Given the description of an element on the screen output the (x, y) to click on. 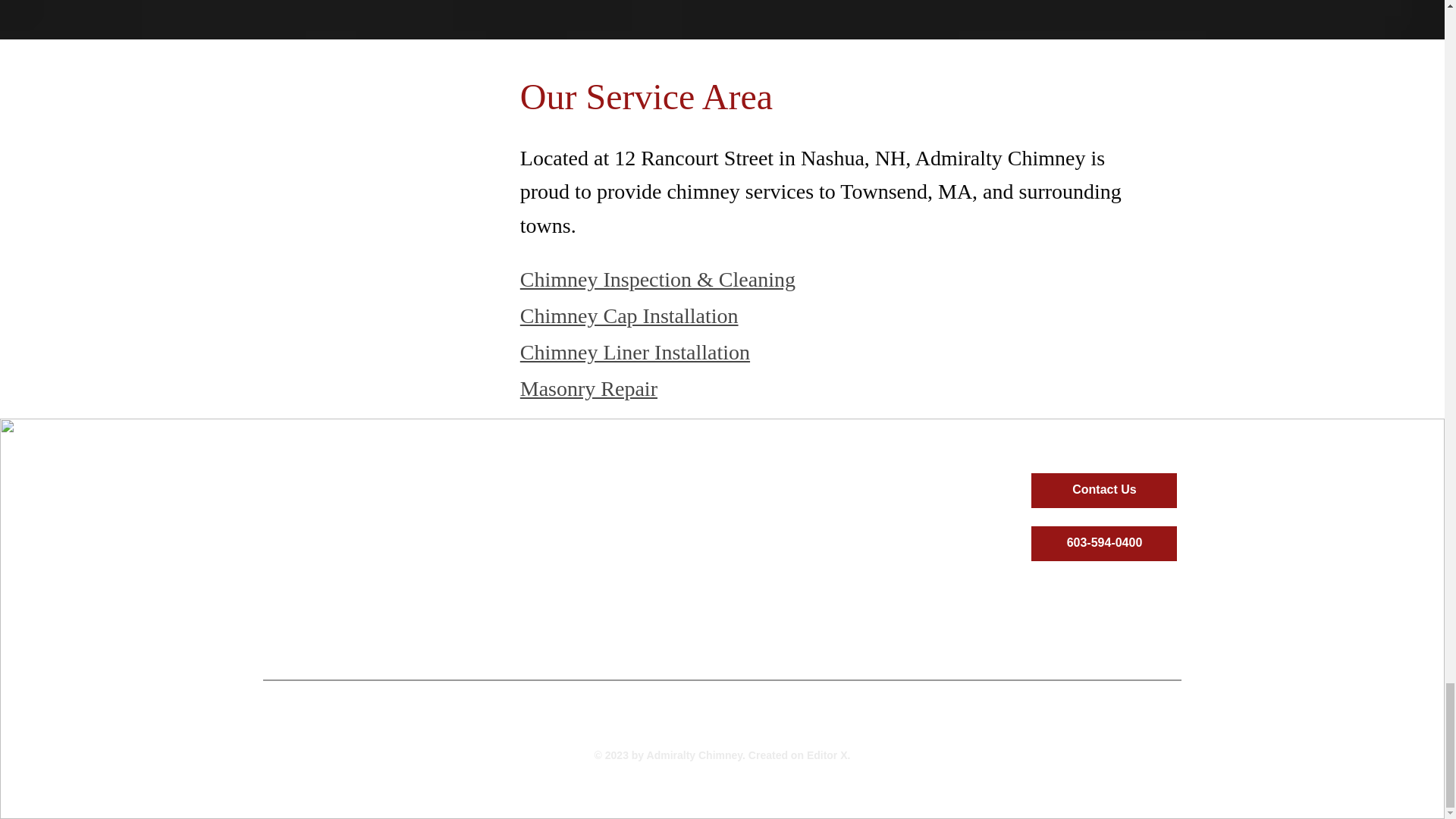
News (893, 621)
Caps (551, 621)
About Us (979, 621)
Bedford, NH (635, 702)
Masonry Repair (588, 388)
Chimney Cap Installation (628, 315)
Home (465, 621)
Editor X. (828, 755)
Milford, NH (810, 702)
Chelmsford, MA (590, 723)
Contact Us (1103, 490)
Inspections (807, 621)
603-594-0400 (1103, 543)
Masonry (722, 621)
Chimney Liner Installation (634, 351)
